Given the description of an element on the screen output the (x, y) to click on. 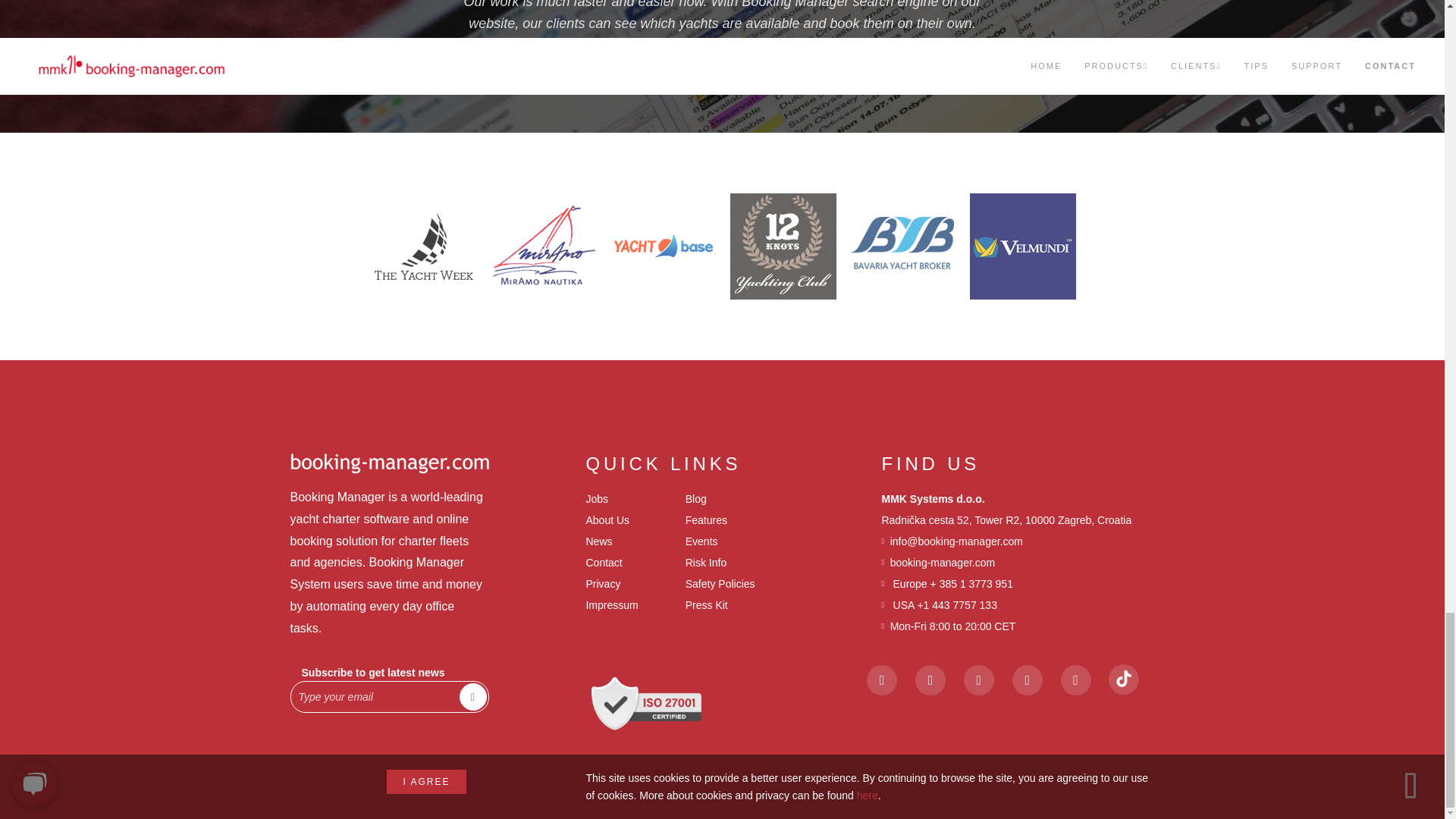
Contact (603, 562)
About Us (606, 520)
News (598, 541)
Jobs (596, 499)
